Given the description of an element on the screen output the (x, y) to click on. 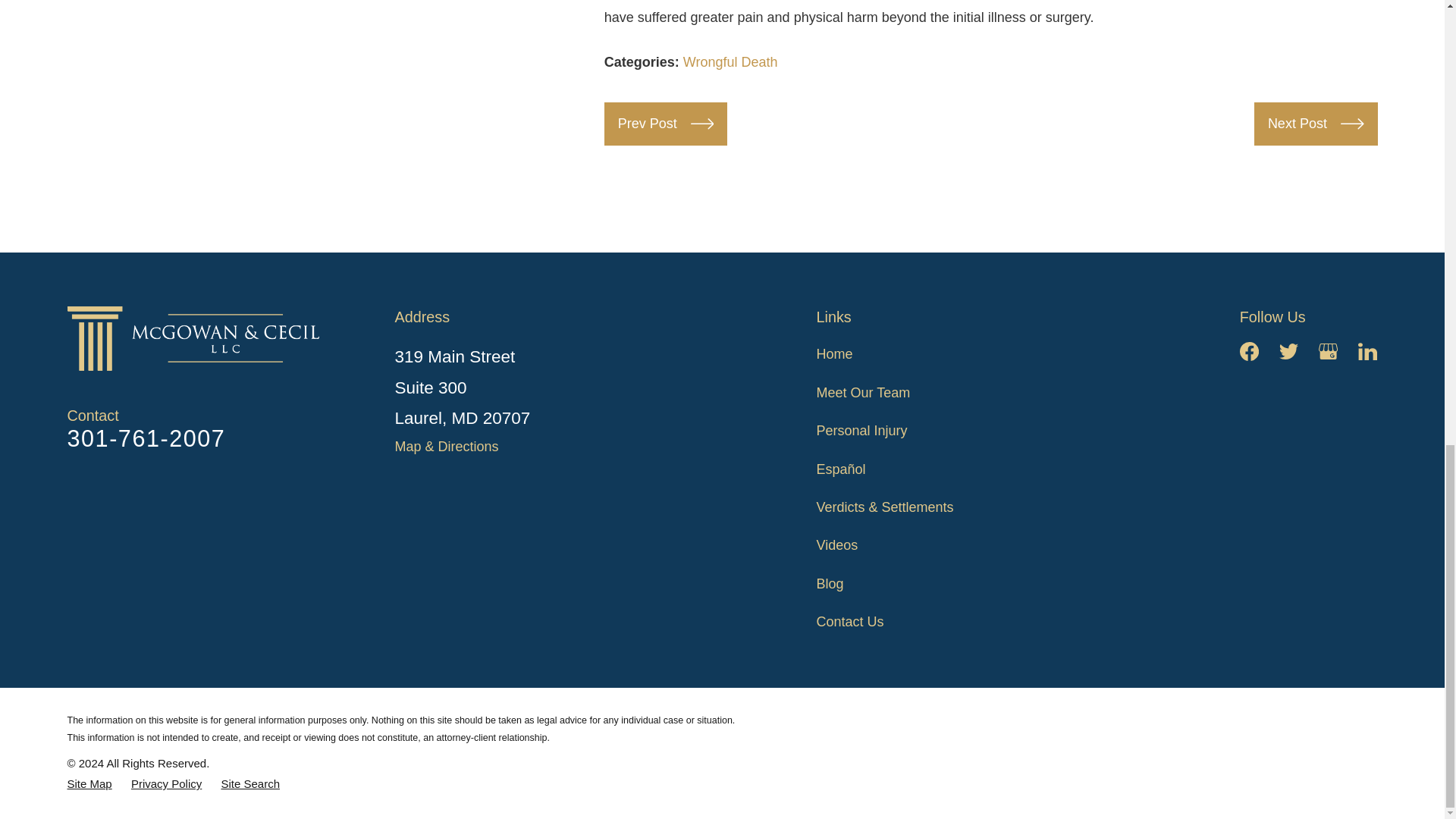
Facebook (1249, 351)
Google Business Profile (1328, 351)
Twitter (1288, 351)
LinkedIn (1367, 351)
Home (198, 338)
